Given the description of an element on the screen output the (x, y) to click on. 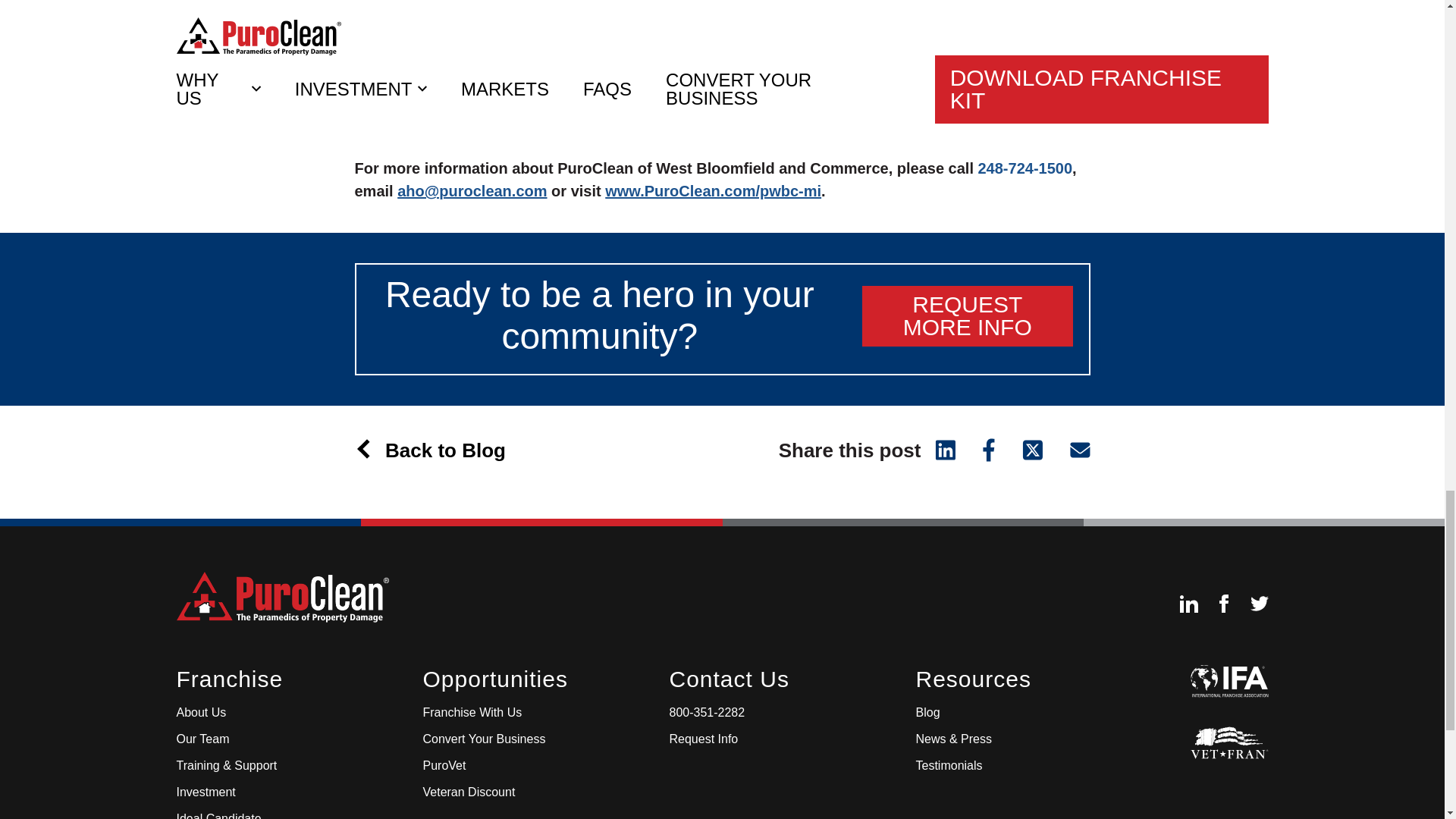
REQUEST MORE INFO (967, 315)
About Us (200, 712)
Investment (205, 792)
Share on LinkedIn (944, 447)
Share on Facebook (989, 447)
Back to Blog (438, 449)
Ideal Candidate (218, 815)
Email this Article (1072, 447)
248-724-1500 (1025, 167)
Our Team (202, 739)
Share on Twitter (1033, 447)
